Given the description of an element on the screen output the (x, y) to click on. 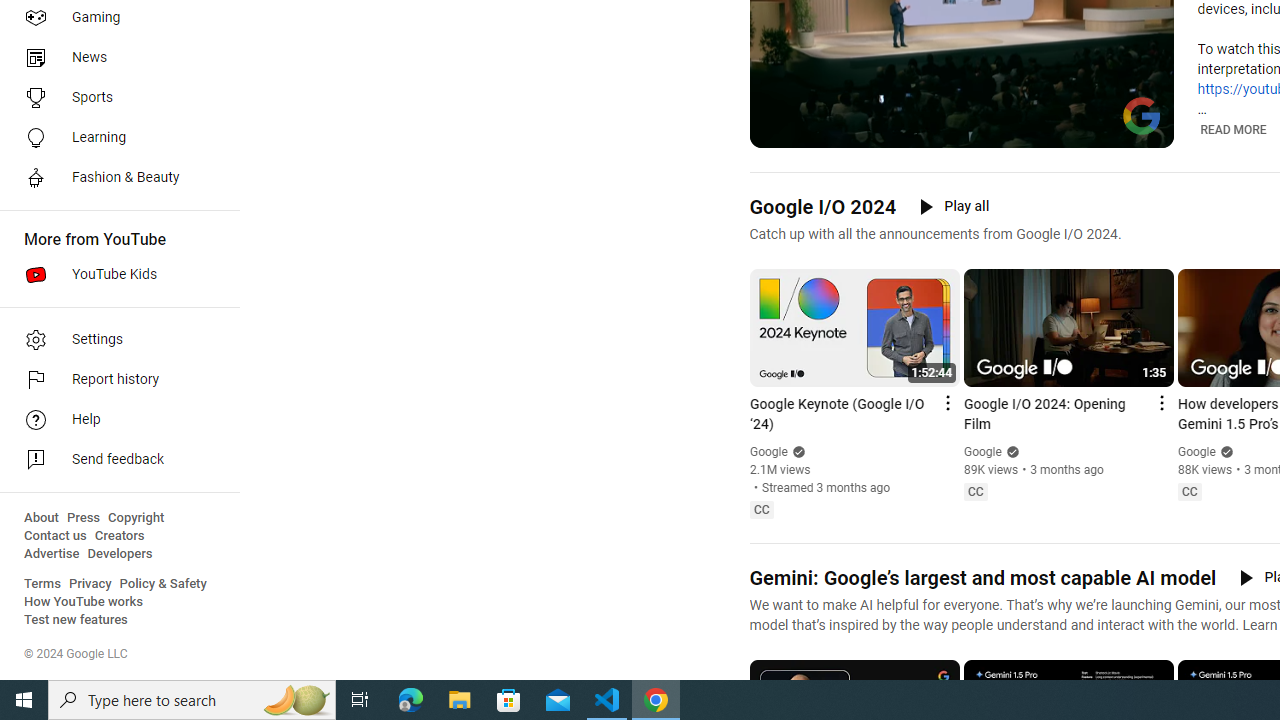
About (41, 518)
Creators (118, 536)
Contact us (55, 536)
Advertise (51, 554)
Pause (k) (779, 130)
READ MORE (1232, 129)
READ MORE (1233, 129)
Full screen (f) (1143, 130)
Policy & Safety (163, 584)
Report history (113, 380)
Press (83, 518)
Mute (m) (815, 130)
